Given the description of an element on the screen output the (x, y) to click on. 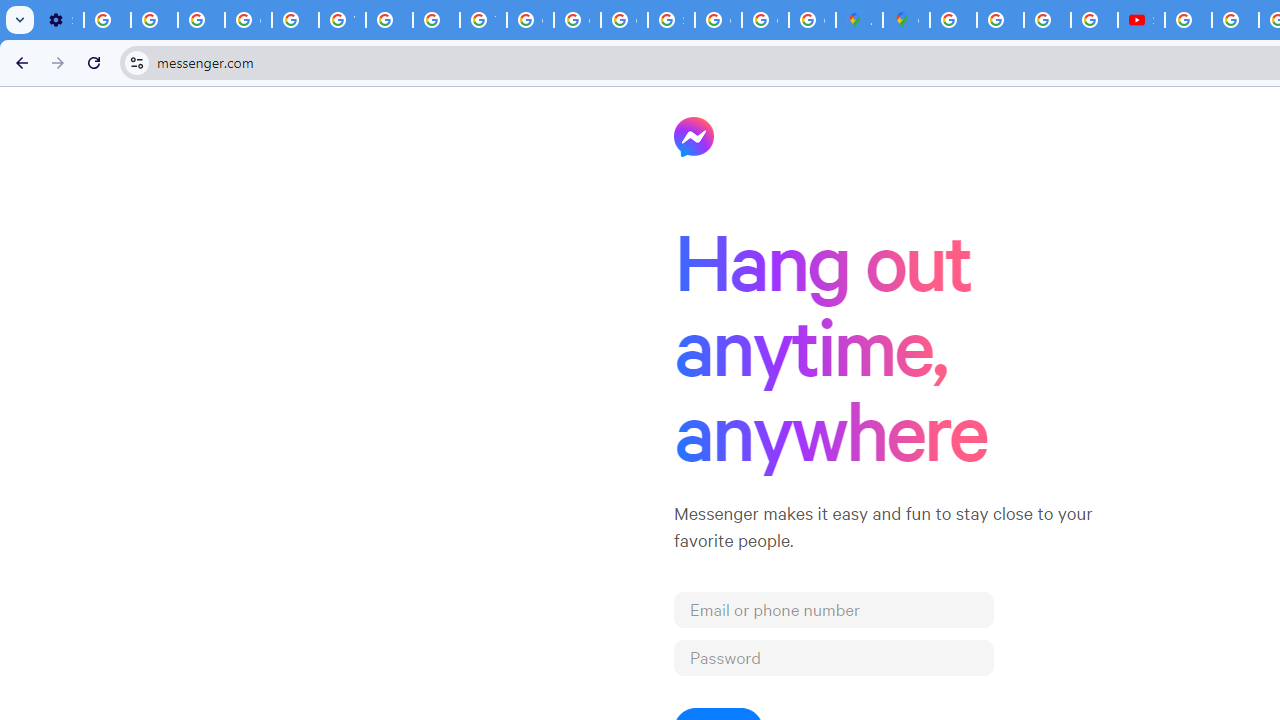
Messenger (694, 136)
Sign in - Google Accounts (671, 20)
https://scholar.google.com/ (389, 20)
Subscriptions - YouTube (1140, 20)
Privacy Help Center - Policies Help (436, 20)
Password (834, 657)
Google Account Help (248, 20)
Privacy Help Center - Policies Help (294, 20)
Email or phone number (834, 609)
